Given the description of an element on the screen output the (x, y) to click on. 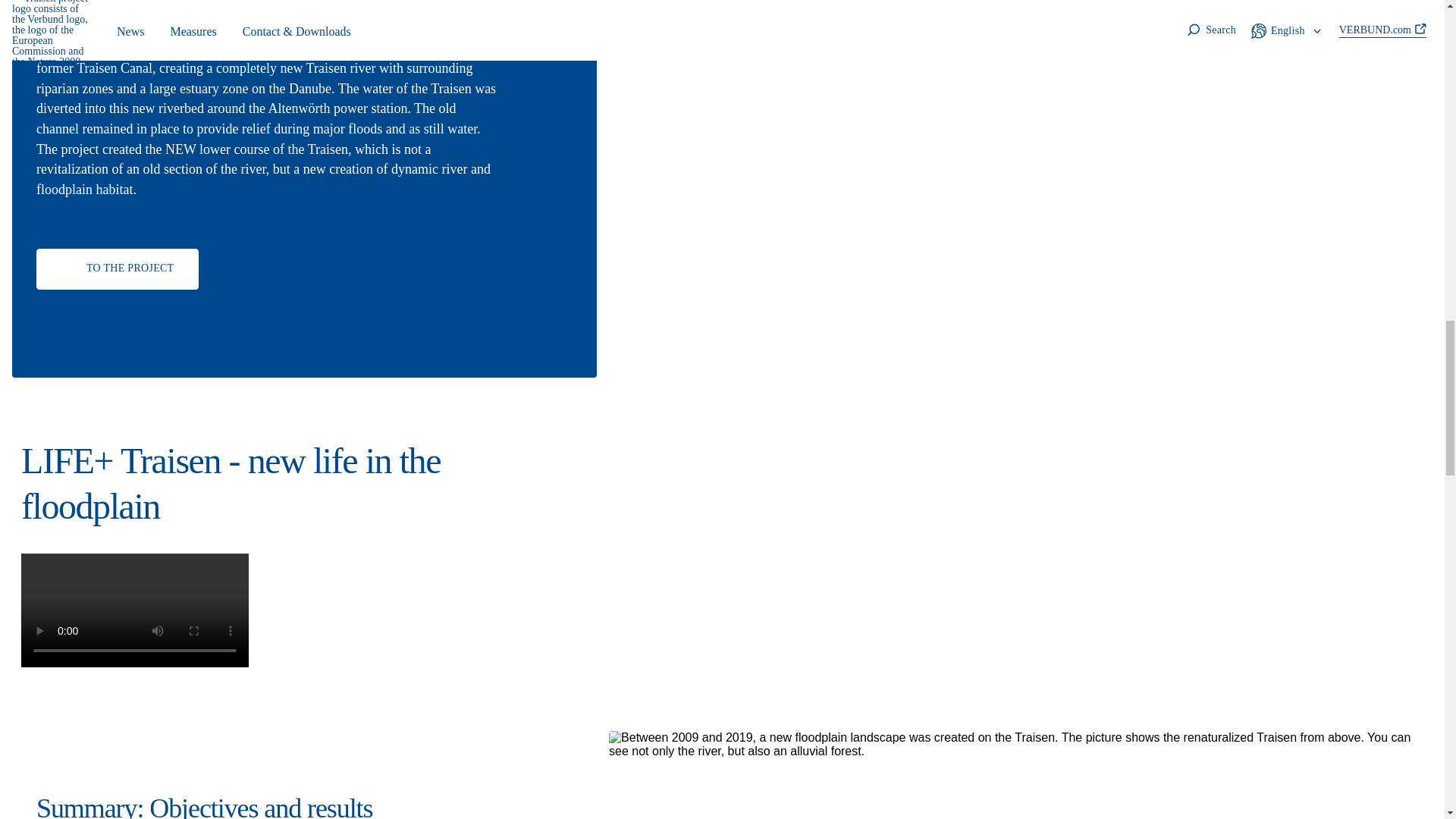
TO THE PROJECT (117, 268)
